Given the description of an element on the screen output the (x, y) to click on. 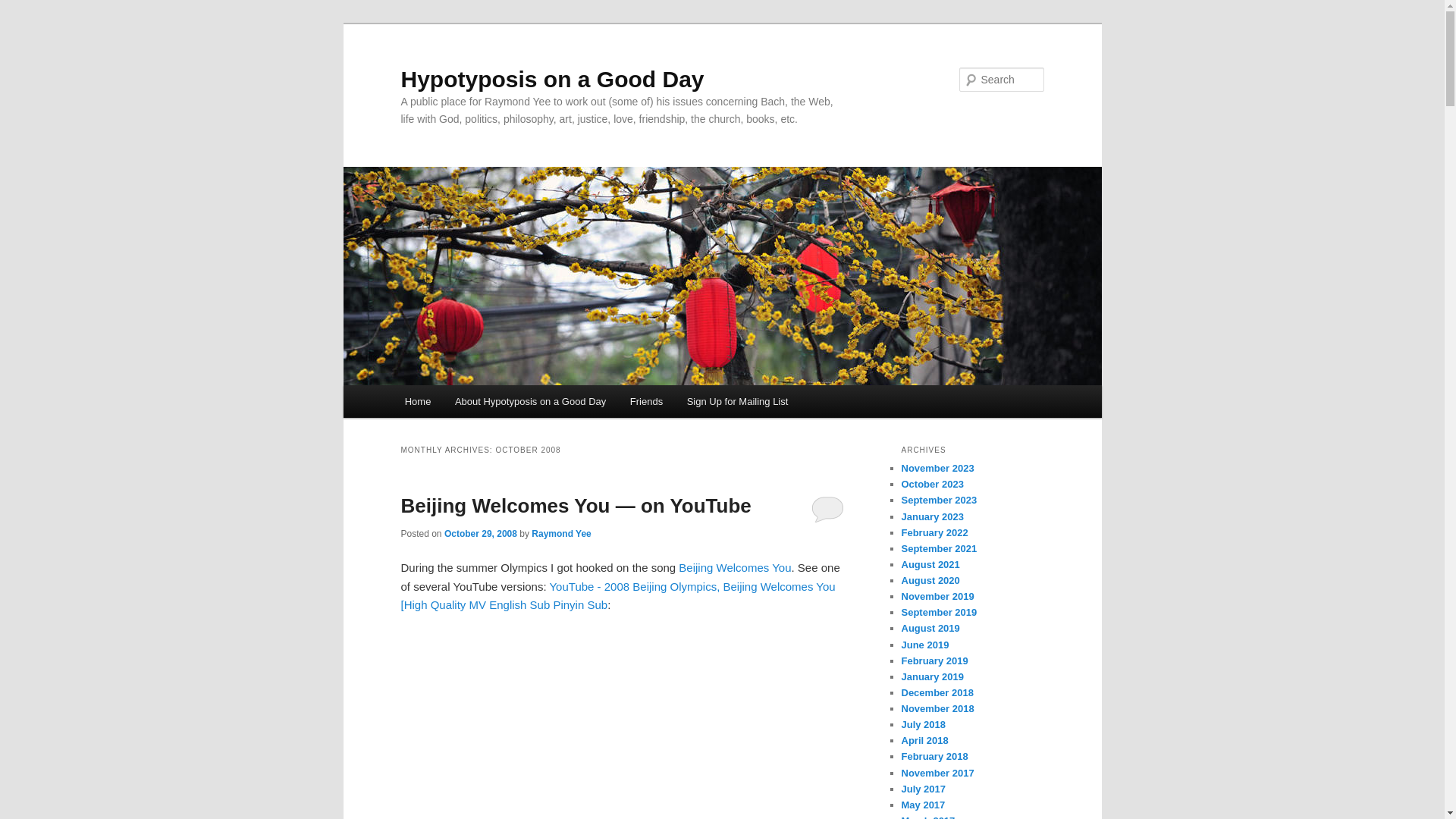
About Hypotyposis on a Good Day (529, 400)
Raymond Yee (561, 533)
Search (24, 8)
Beijing Welcomes You (734, 567)
5:30 pm (480, 533)
Friends (646, 400)
Home (417, 400)
October 29, 2008 (480, 533)
Sign Up for Mailing List (737, 400)
View all posts by Raymond Yee (561, 533)
Hypotyposis on a Good Day (551, 78)
